Given the description of an element on the screen output the (x, y) to click on. 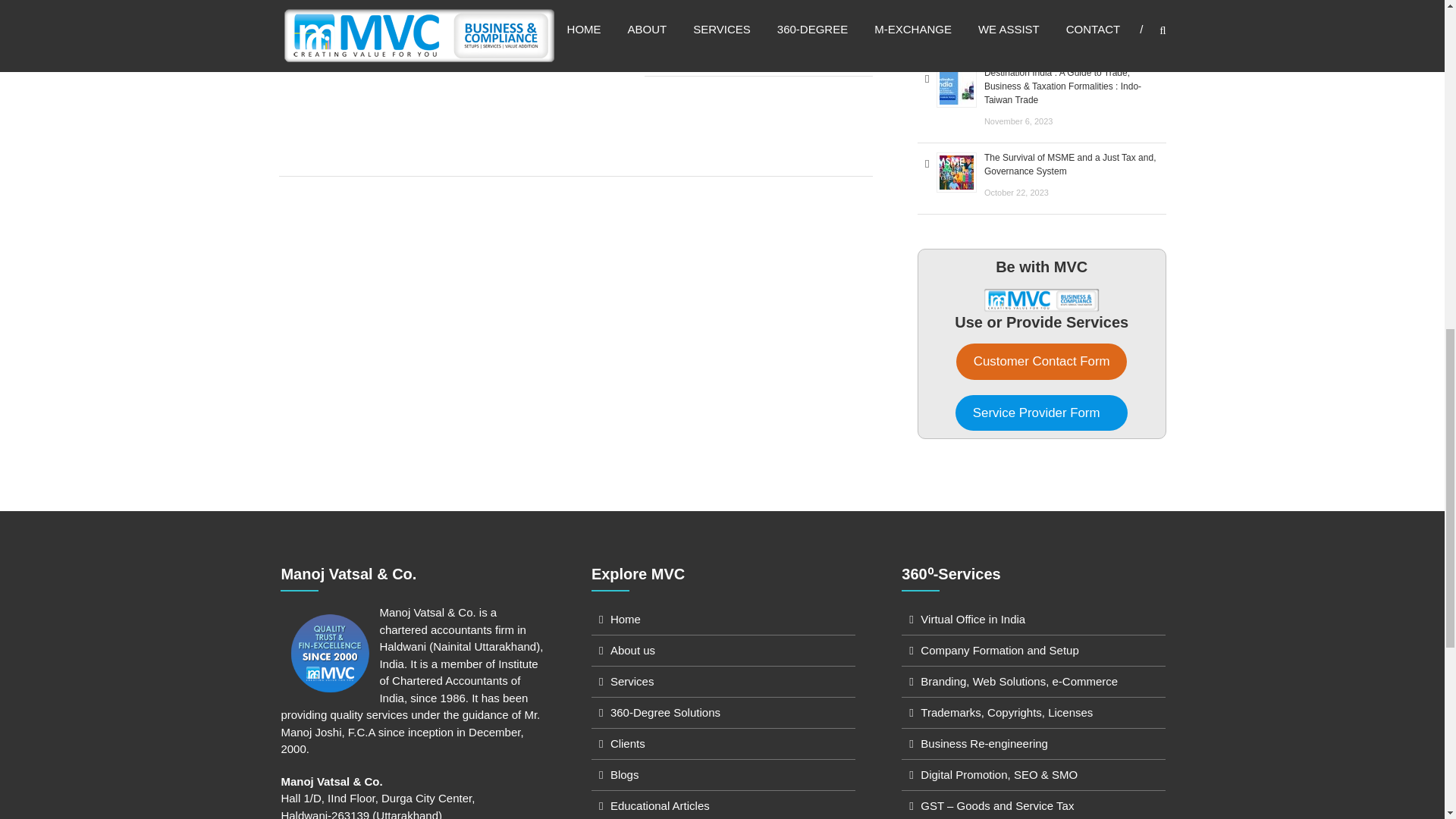
Clients (627, 743)
Contact us now (343, 27)
Home (625, 618)
Permalink to Indo Taiwan Trade (1021, 13)
360-Degree Solutions (665, 712)
Customer Contact Form (1041, 361)
About us (632, 649)
Educational Articles (660, 805)
The Survival of MSME and a Just Tax and, Governance System (1070, 164)
Join MVC (1041, 300)
Blogs (624, 774)
Indo Taiwan Trade (1021, 13)
Service Provider Form    (1040, 411)
Services (631, 680)
